Given the description of an element on the screen output the (x, y) to click on. 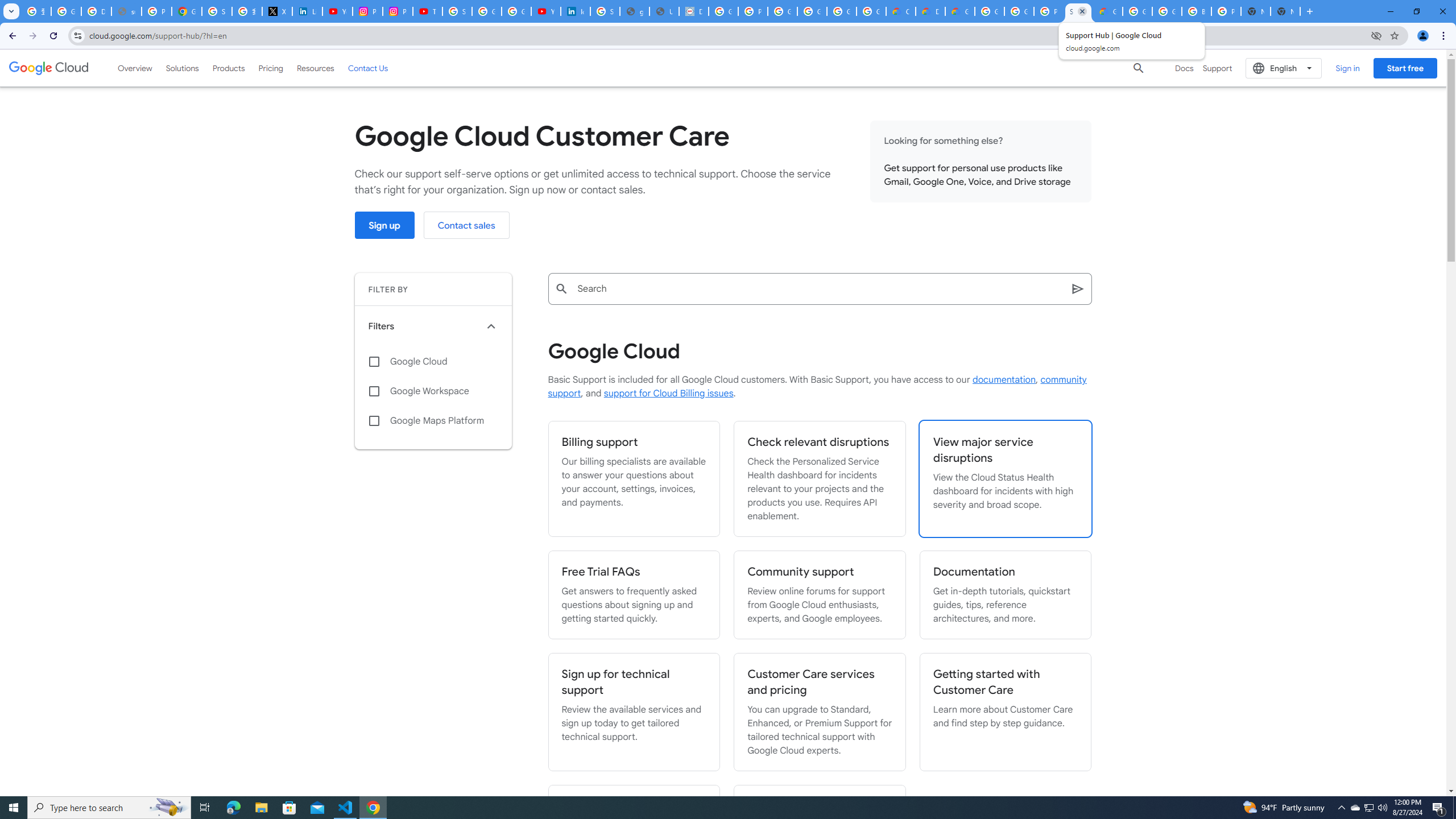
Support Hub | Google Cloud (1077, 11)
Contact Us (368, 67)
Google Cloud (432, 361)
Products (228, 67)
Docs (1183, 67)
Pricing (270, 67)
Google Cloud Platform (1166, 11)
